Given the description of an element on the screen output the (x, y) to click on. 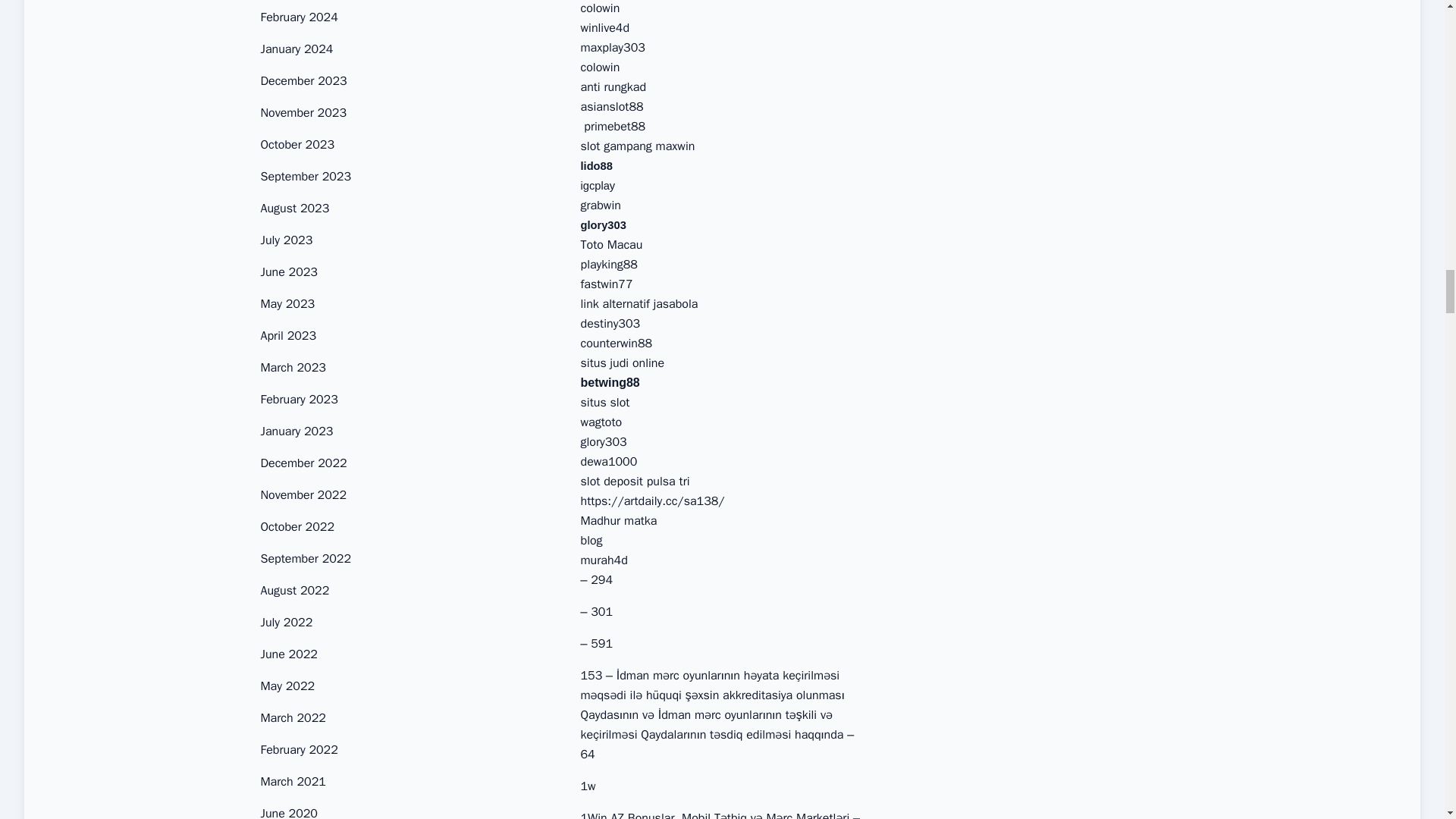
July 2023 (286, 240)
September 2023 (306, 176)
May 2023 (287, 304)
August 2023 (295, 208)
June 2023 (288, 272)
February 2024 (298, 17)
October 2023 (297, 144)
April 2023 (288, 335)
March 2023 (293, 367)
December 2023 (303, 80)
